Given the description of an element on the screen output the (x, y) to click on. 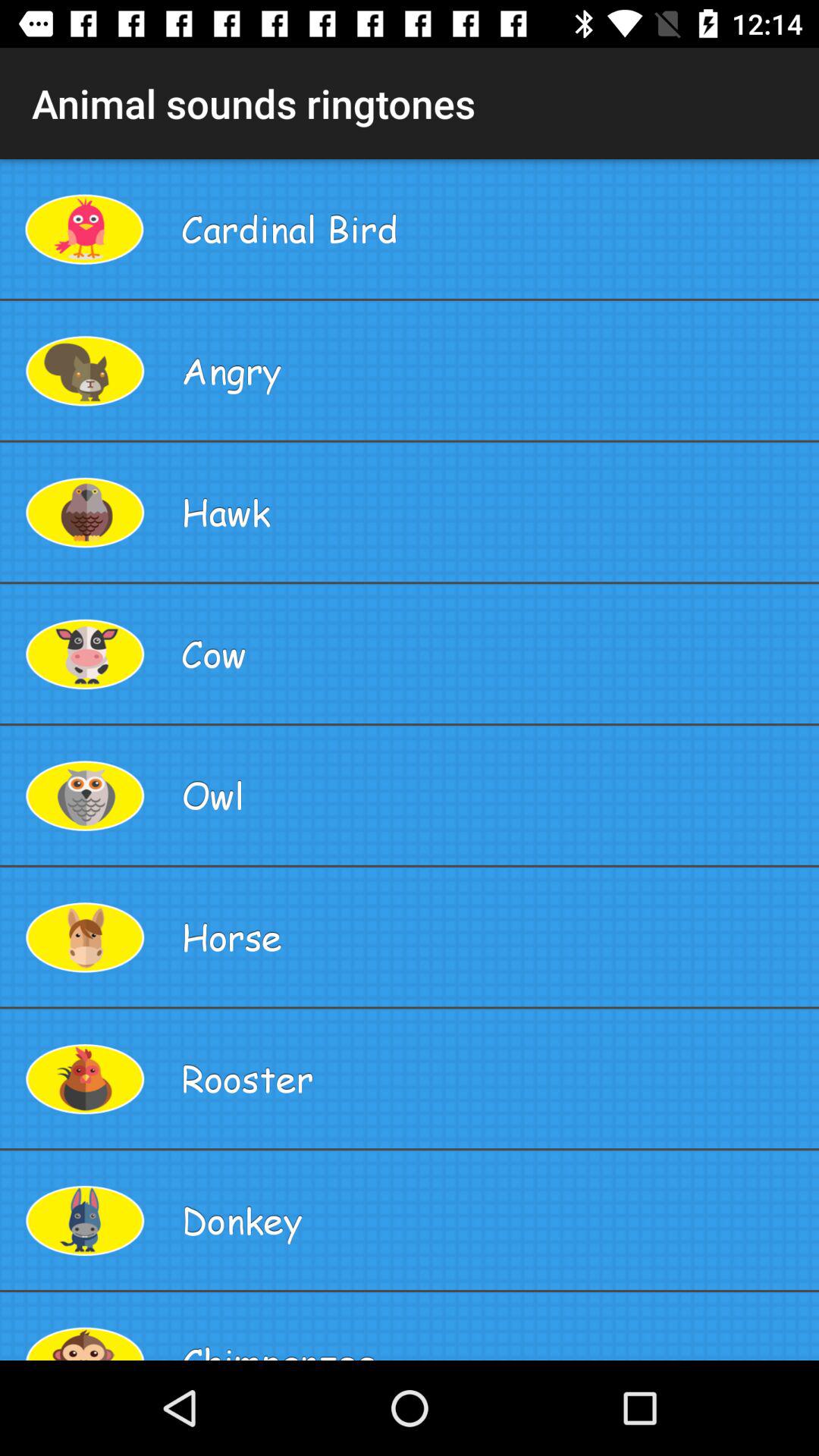
flip to owl icon (494, 795)
